Given the description of an element on the screen output the (x, y) to click on. 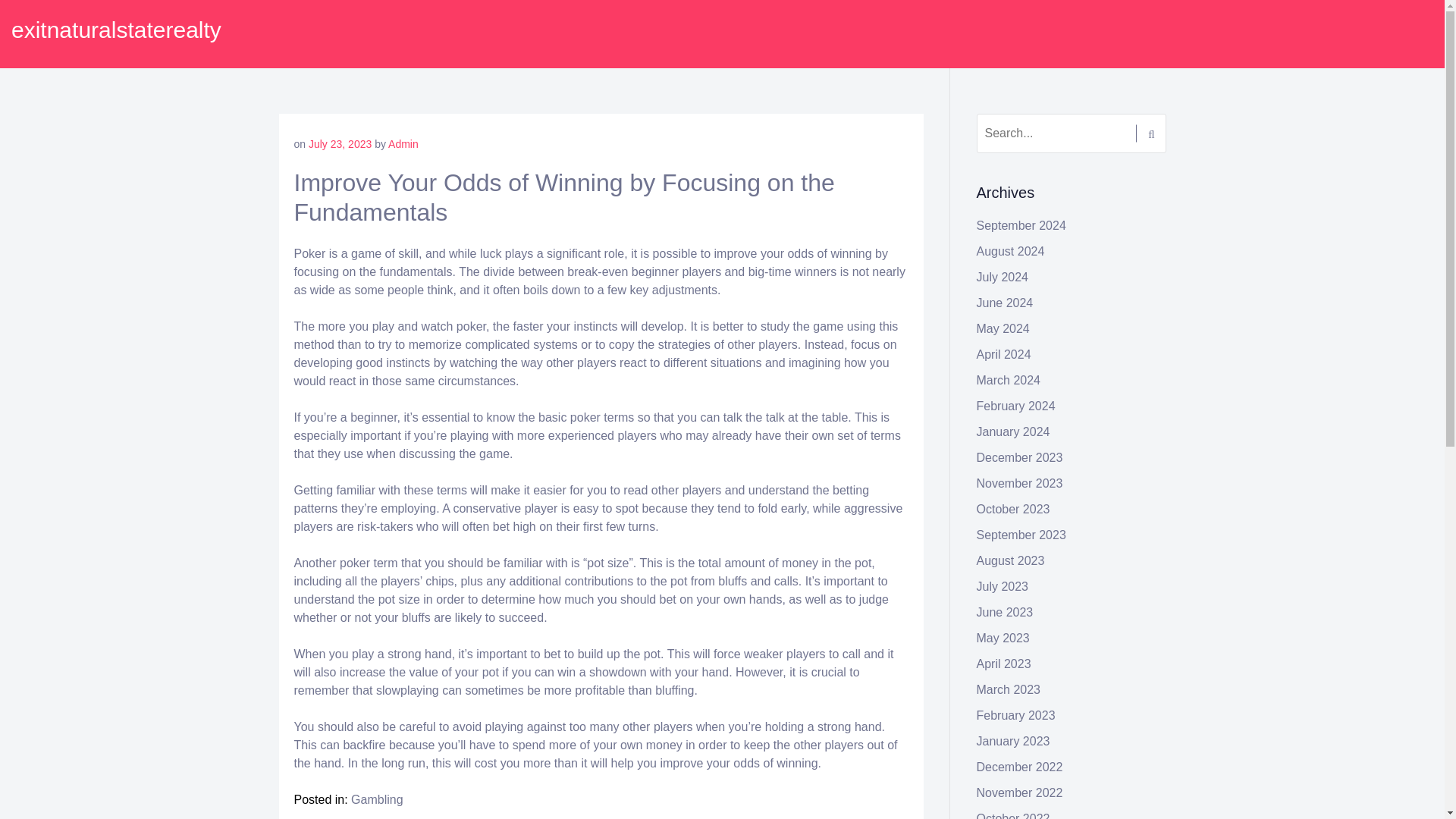
December 2022 (1019, 766)
August 2023 (1010, 560)
August 2024 (1010, 250)
October 2022 (1012, 815)
March 2024 (1008, 379)
April 2023 (1003, 663)
December 2023 (1019, 457)
exitnaturalstaterealty (116, 29)
February 2023 (1015, 715)
October 2023 (1012, 508)
